Given the description of an element on the screen output the (x, y) to click on. 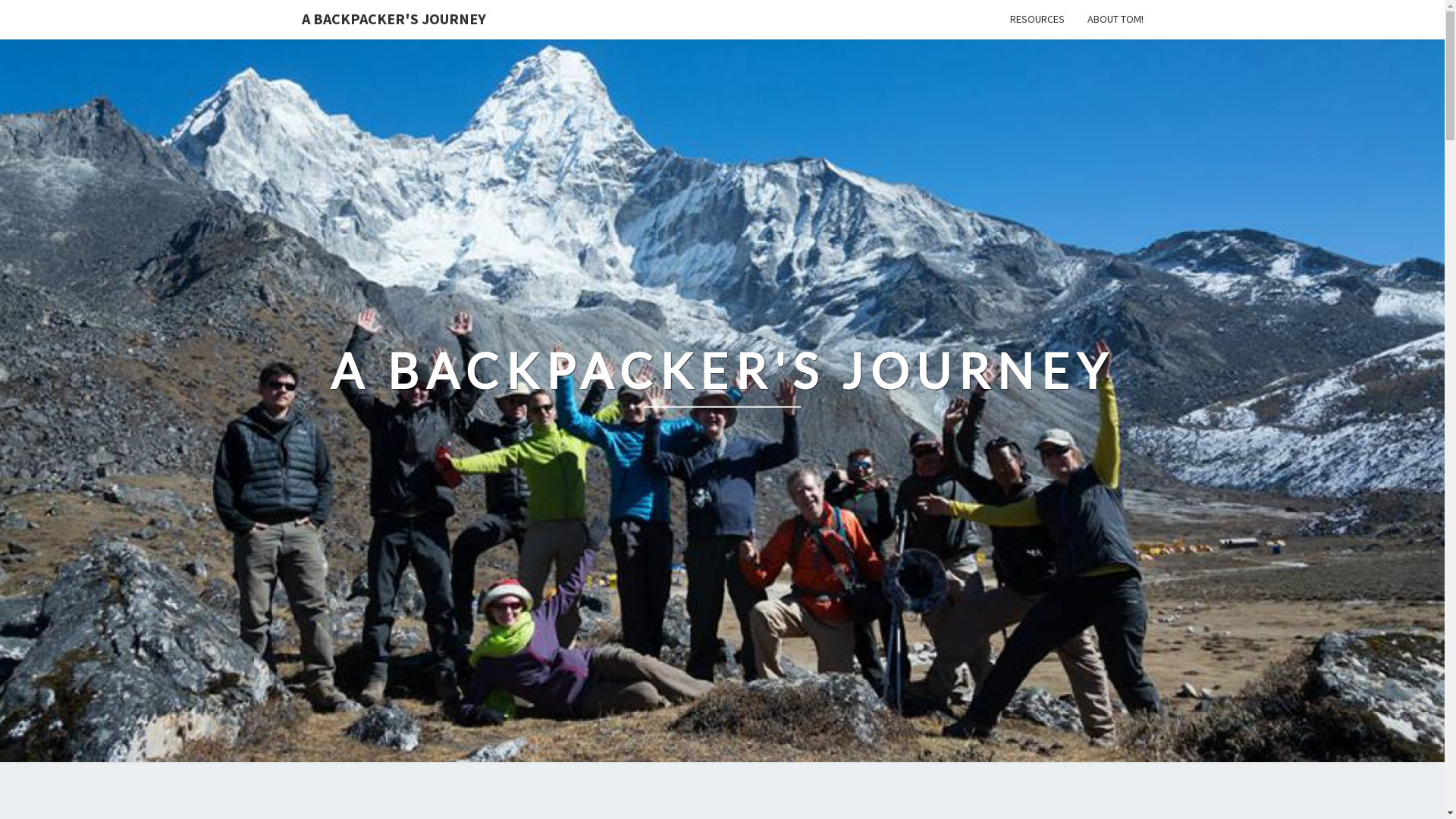
ABOUT TOM! Element type: text (1114, 19)
RESOURCES Element type: text (1036, 19)
A BACKPACKER'S JOURNEY Element type: text (722, 380)
A BACKPACKER'S JOURNEY Element type: text (392, 18)
